Given the description of an element on the screen output the (x, y) to click on. 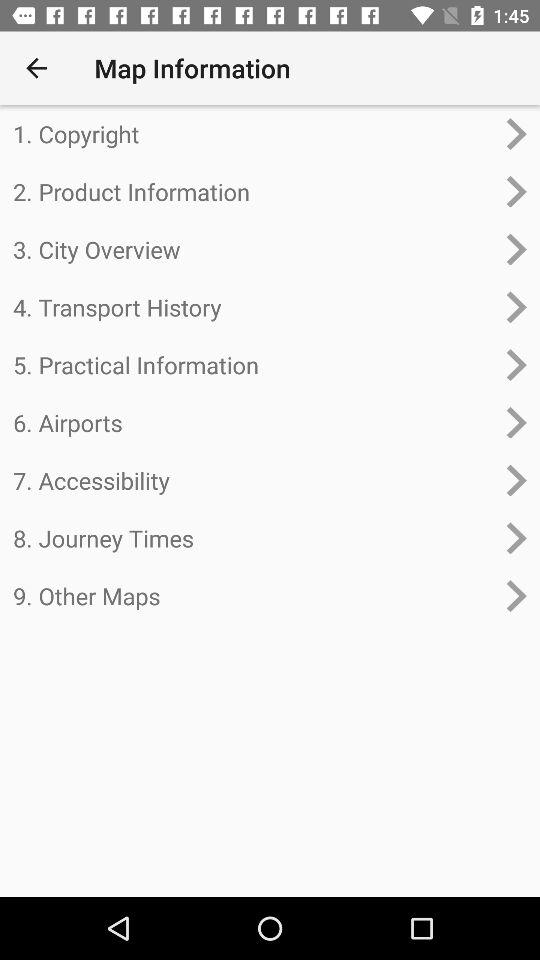
flip to 3. city overview (253, 249)
